Given the description of an element on the screen output the (x, y) to click on. 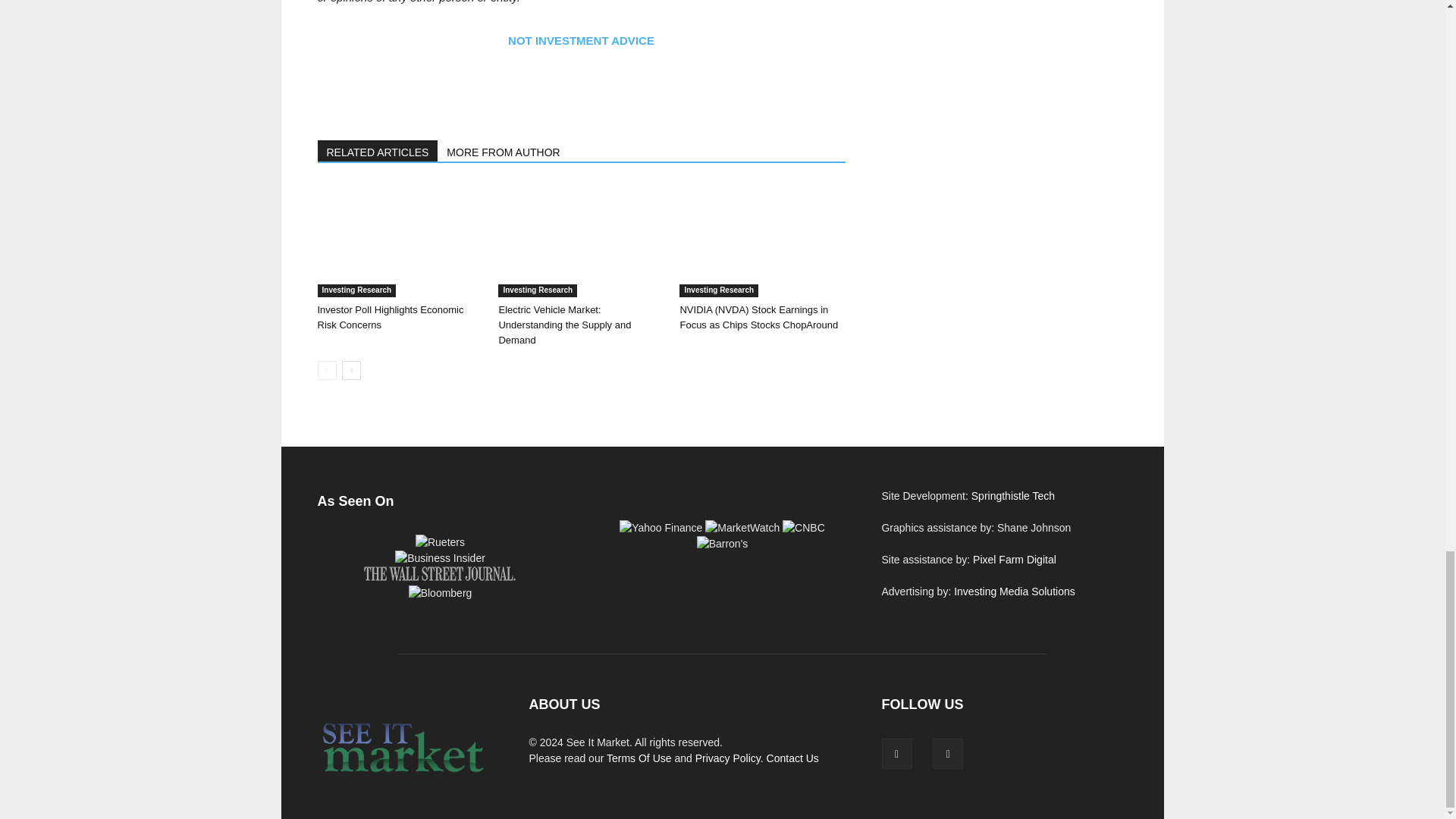
Investor Poll Highlights Economic Risk Concerns (399, 240)
Electric Vehicle Market: Understanding the Supply and Demand (563, 324)
Electric Vehicle Market: Understanding the Supply and Demand (580, 240)
Investor Poll Highlights Economic Risk Concerns (390, 316)
